Given the description of an element on the screen output the (x, y) to click on. 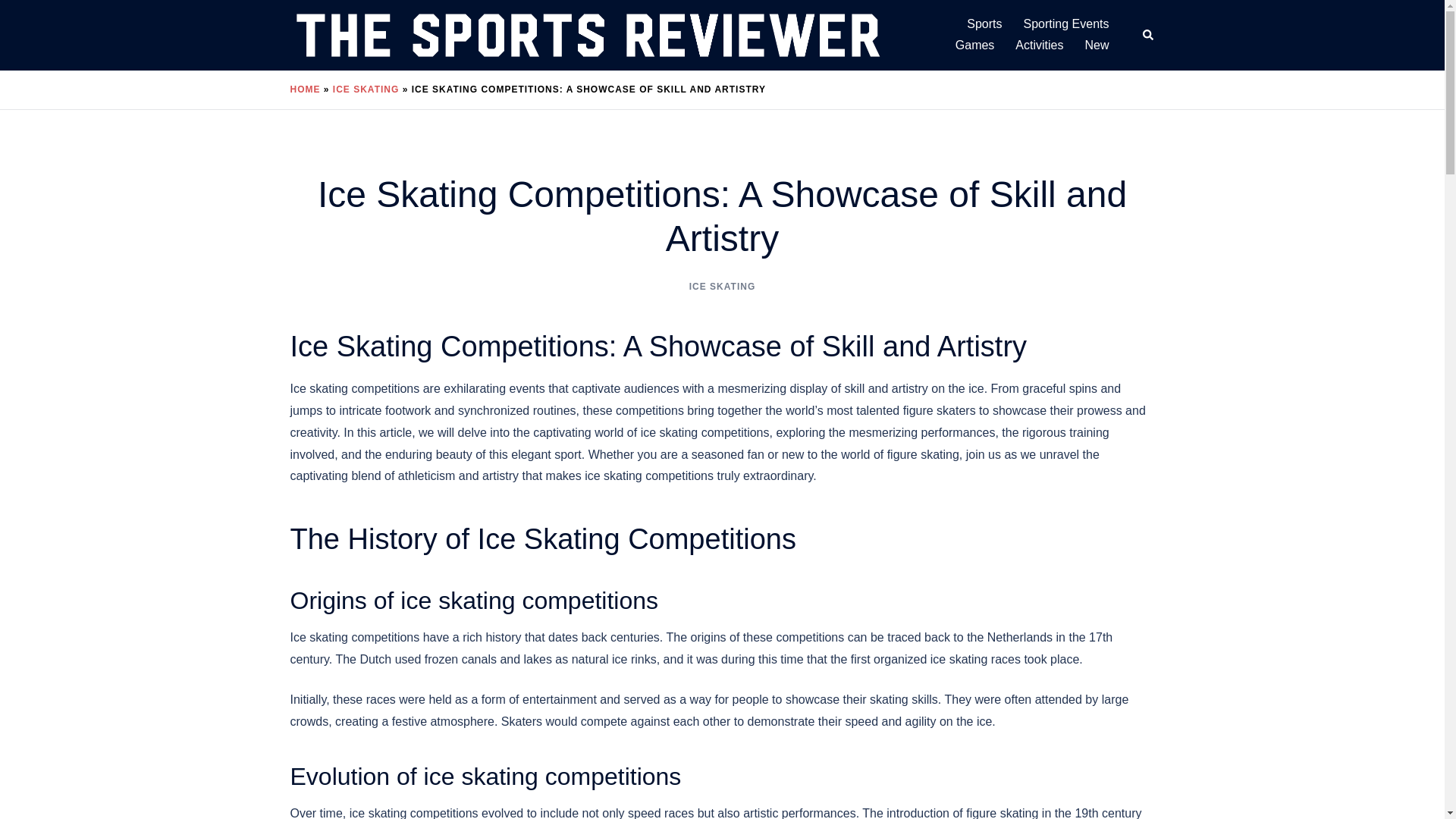
Sports (983, 24)
Sporting Events (1066, 24)
Games (974, 45)
Search (1147, 34)
ICE SKATING (721, 286)
Activities (1038, 45)
TheSportsReviewer.com (586, 33)
HOME (304, 89)
ICE SKATING (365, 89)
New (1096, 45)
